Given the description of an element on the screen output the (x, y) to click on. 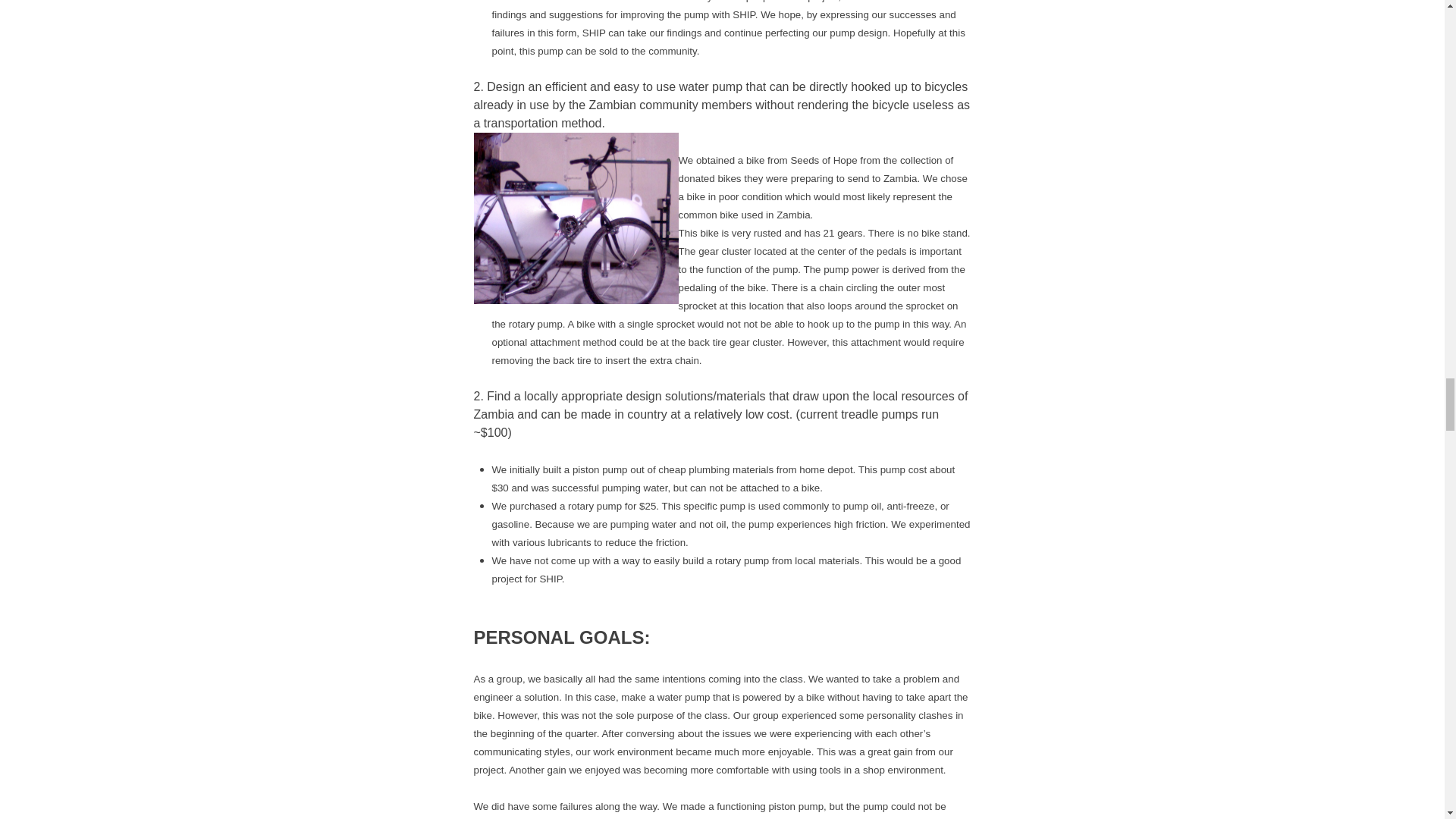
Photo on 2013-03-05 at 12.29.jpg (575, 217)
